Given the description of an element on the screen output the (x, y) to click on. 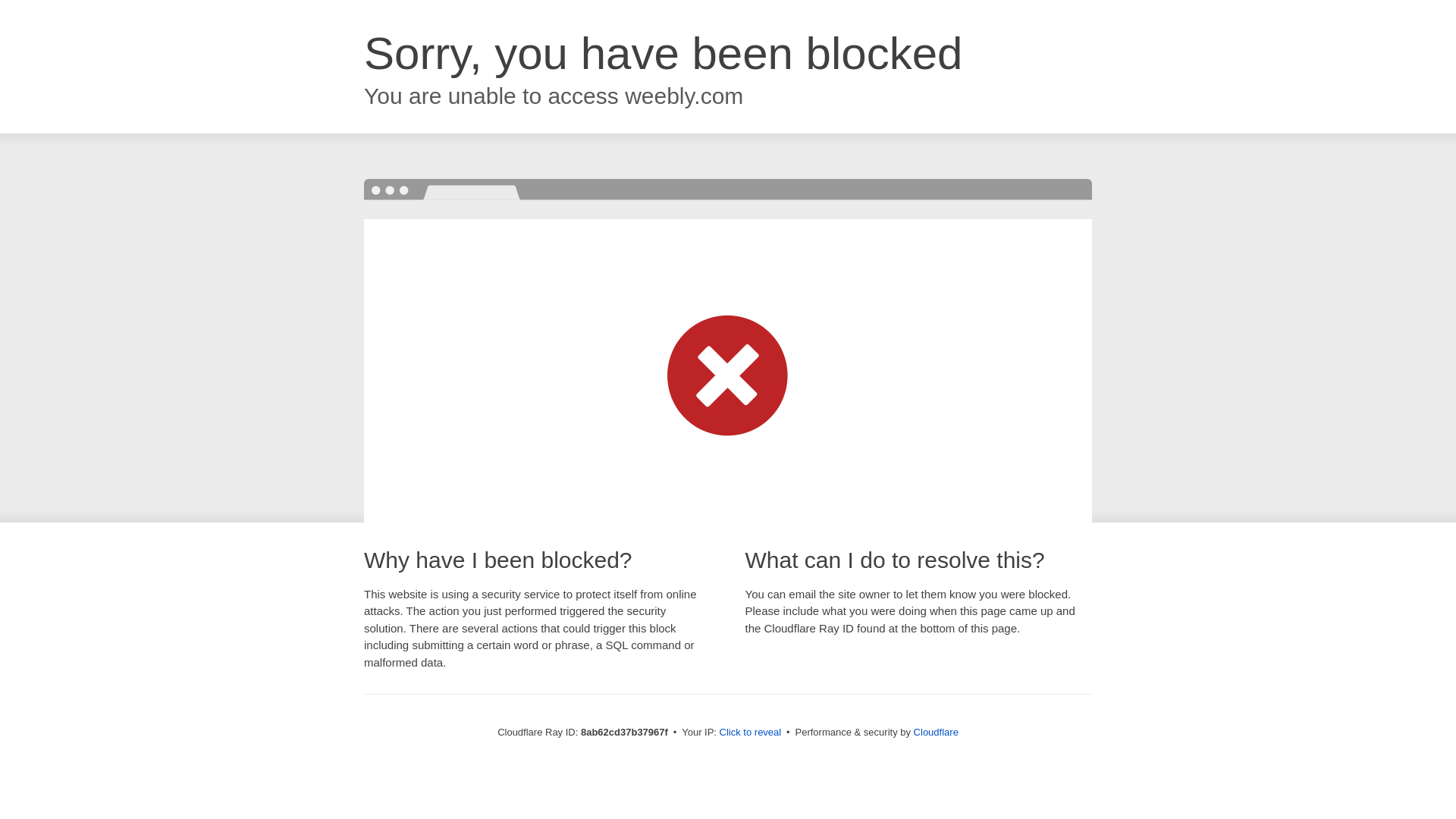
Cloudflare (936, 731)
Click to reveal (750, 732)
